Given the description of an element on the screen output the (x, y) to click on. 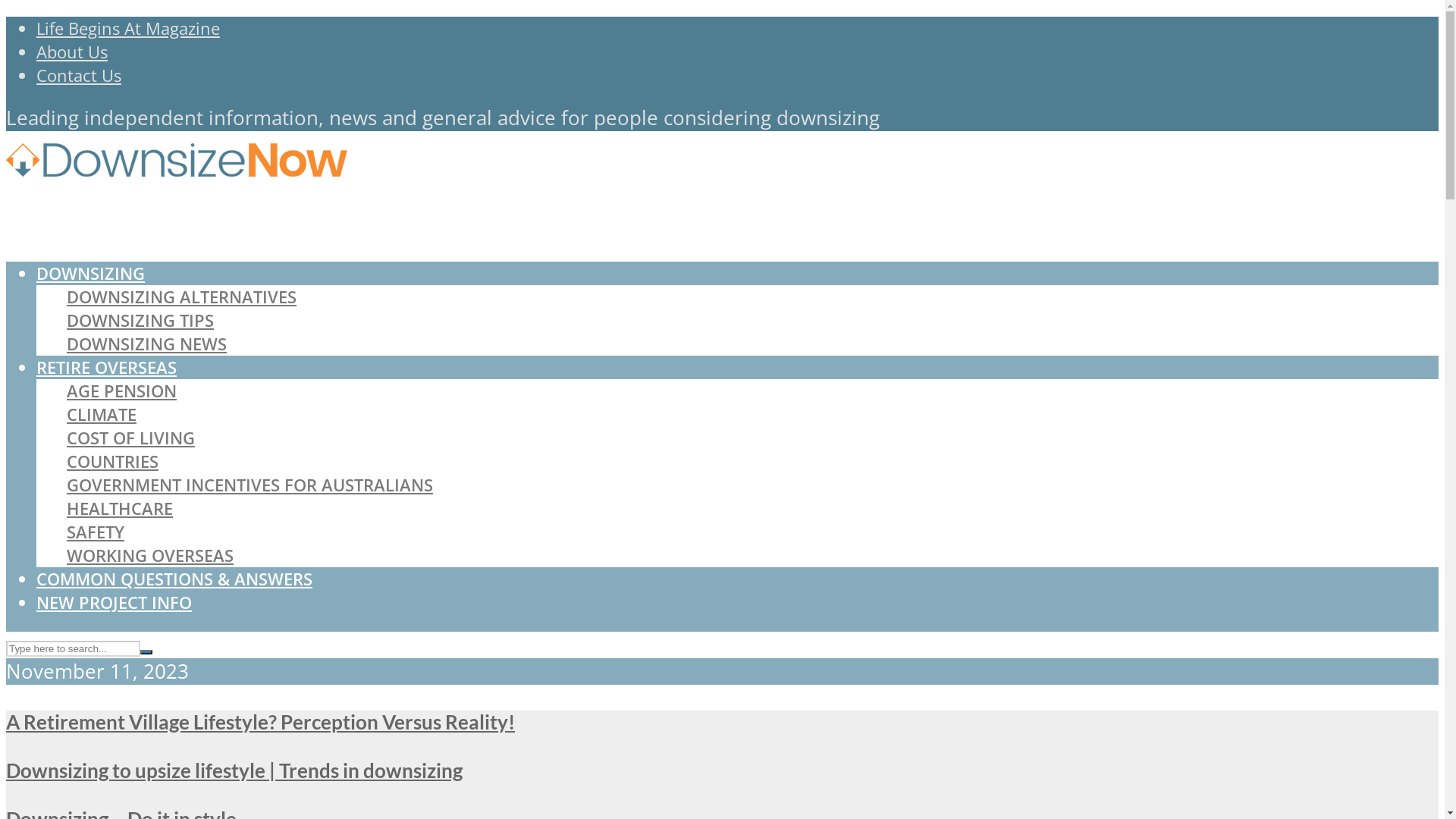
GOVERNMENT INCENTIVES FOR AUSTRALIANS Element type: text (249, 484)
Life Begins At Magazine Element type: text (127, 28)
NEW PROJECT INFO Element type: text (113, 602)
DOWNSIZING Element type: text (90, 273)
HEALTHCARE Element type: text (119, 508)
DOWNSIZING NEWS Element type: text (146, 343)
WORKING OVERSEAS Element type: text (149, 555)
RETIRE OVERSEAS Element type: text (106, 367)
About Us Element type: text (71, 51)
CLIMATE Element type: text (101, 414)
Downsizing to upsize lifestyle | Trends in downsizing Element type: text (234, 770)
Contact Us Element type: text (78, 75)
DOWNSIZING TIPS Element type: text (139, 320)
COST OF LIVING Element type: text (130, 437)
COMMON QUESTIONS & ANSWERS Element type: text (174, 578)
A Retirement Village Lifestyle? Perception Versus Reality! Element type: text (260, 721)
COUNTRIES Element type: text (112, 461)
DOWNSIZING ALTERNATIVES Element type: text (181, 296)
SAFETY Element type: text (95, 531)
AGE PENSION Element type: text (121, 390)
